Given the description of an element on the screen output the (x, y) to click on. 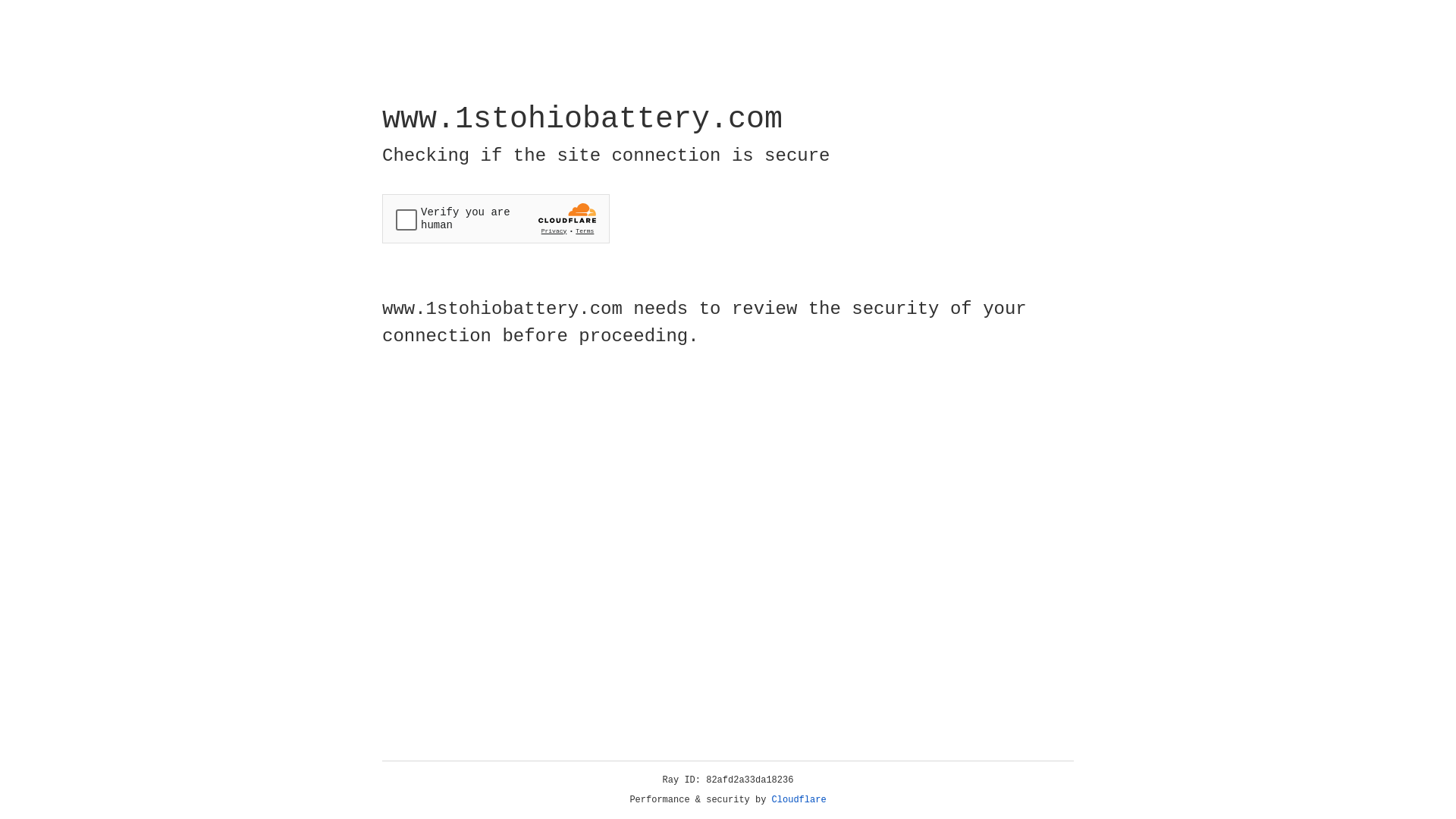
Cloudflare Element type: text (798, 799)
Widget containing a Cloudflare security challenge Element type: hover (495, 218)
